Given the description of an element on the screen output the (x, y) to click on. 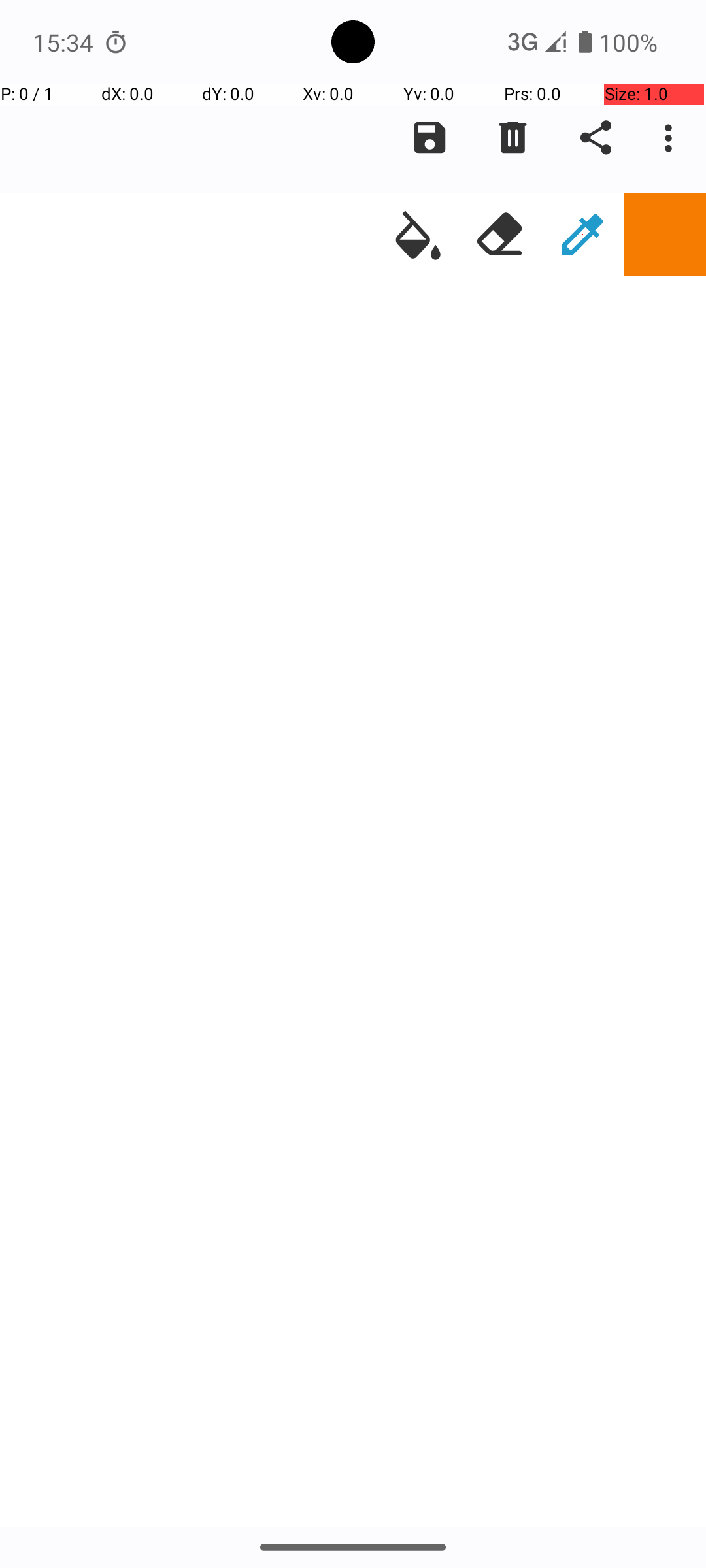
Clear Element type: android.widget.Button (512, 137)
Bucket fill Element type: android.widget.ImageView (417, 234)
Eraser Element type: android.widget.ImageView (499, 234)
Eyedropper Element type: android.widget.ImageView (582, 234)
Change color Element type: android.widget.ImageView (664, 234)
